Given the description of an element on the screen output the (x, y) to click on. 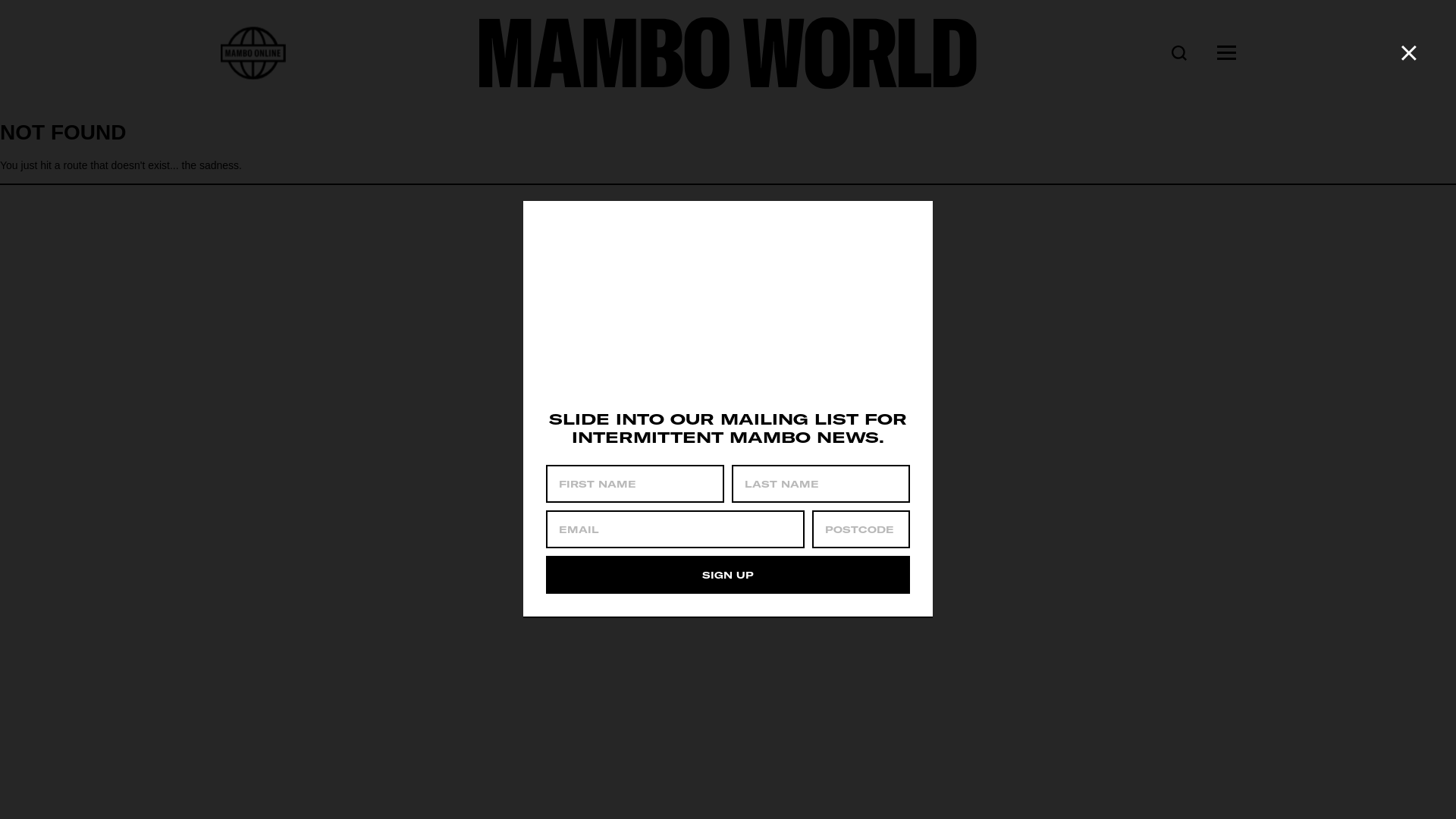
SIGN UP Element type: text (728, 574)
